Given the description of an element on the screen output the (x, y) to click on. 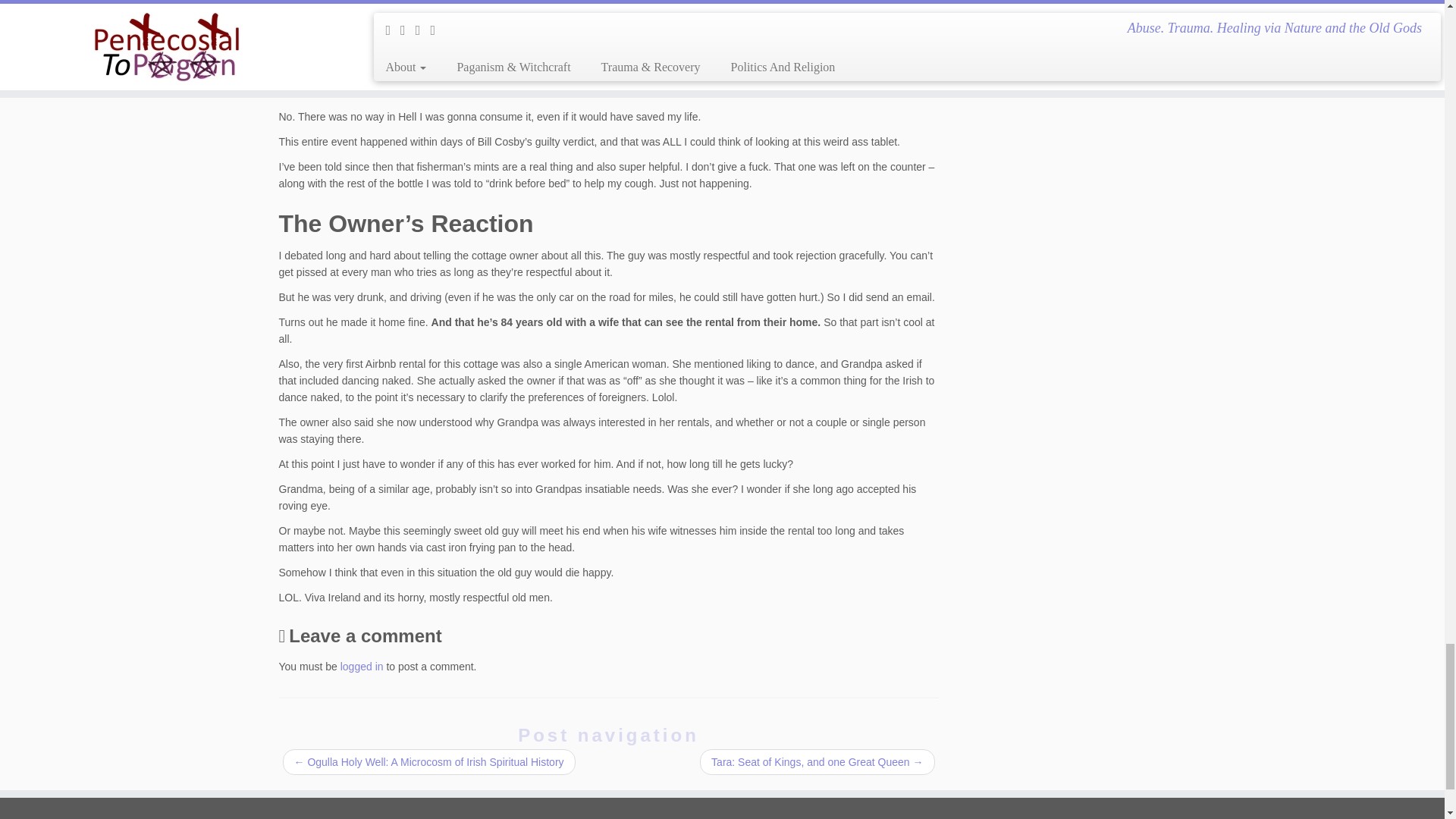
logged in (362, 666)
